Given the description of an element on the screen output the (x, y) to click on. 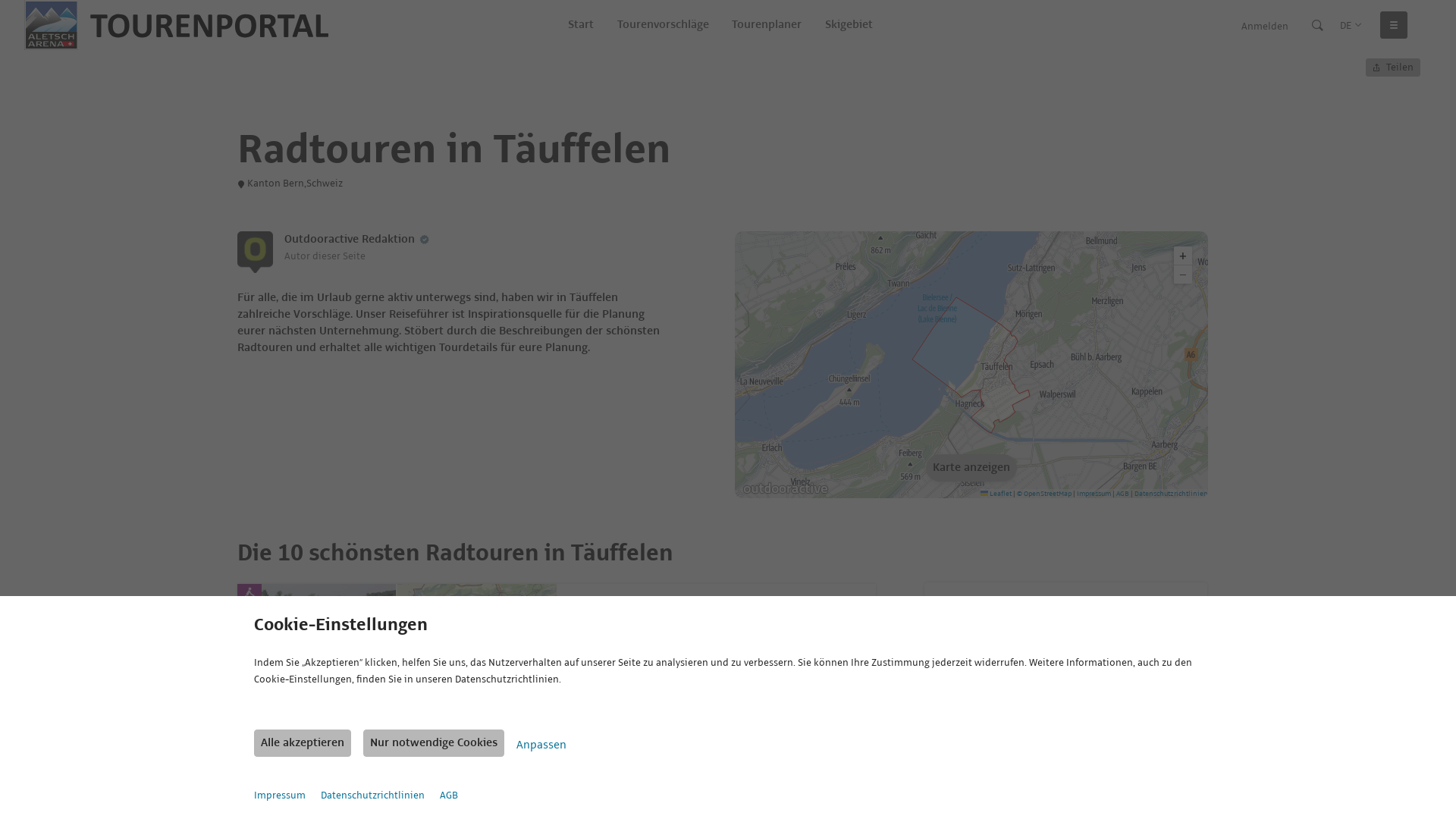
Leaflet Element type: text (994, 493)
Datenschutzrichtlinien Element type: text (372, 795)
Alle akzeptieren Element type: text (302, 742)
Start Element type: text (580, 24)
Teilen Element type: text (1392, 67)
Tourenplaner Element type: text (766, 24)
zur Startseite Element type: hover (176, 25)
Skigebiet Element type: text (848, 24)
Suche Element type: hover (1317, 24)
DE Element type: text (1350, 25)
AGB Element type: text (1122, 493)
Datenschutzrichtlinien Element type: text (1171, 493)
+ Element type: text (1182, 255)
Outdooractive Redaktion Element type: text (349, 239)
Teilen Element type: hover (825, 725)
Nur notwendige Cookies Element type: text (433, 742)
Karte anzeigen Element type: text (970, 467)
AGB Element type: text (448, 795)
Impressum Element type: text (279, 795)
Merken Element type: hover (853, 725)
Anmelden Element type: text (1264, 25)
Impressum Element type: text (1093, 493)
Powered by outdooractive.com Element type: hover (784, 489)
